Given the description of an element on the screen output the (x, y) to click on. 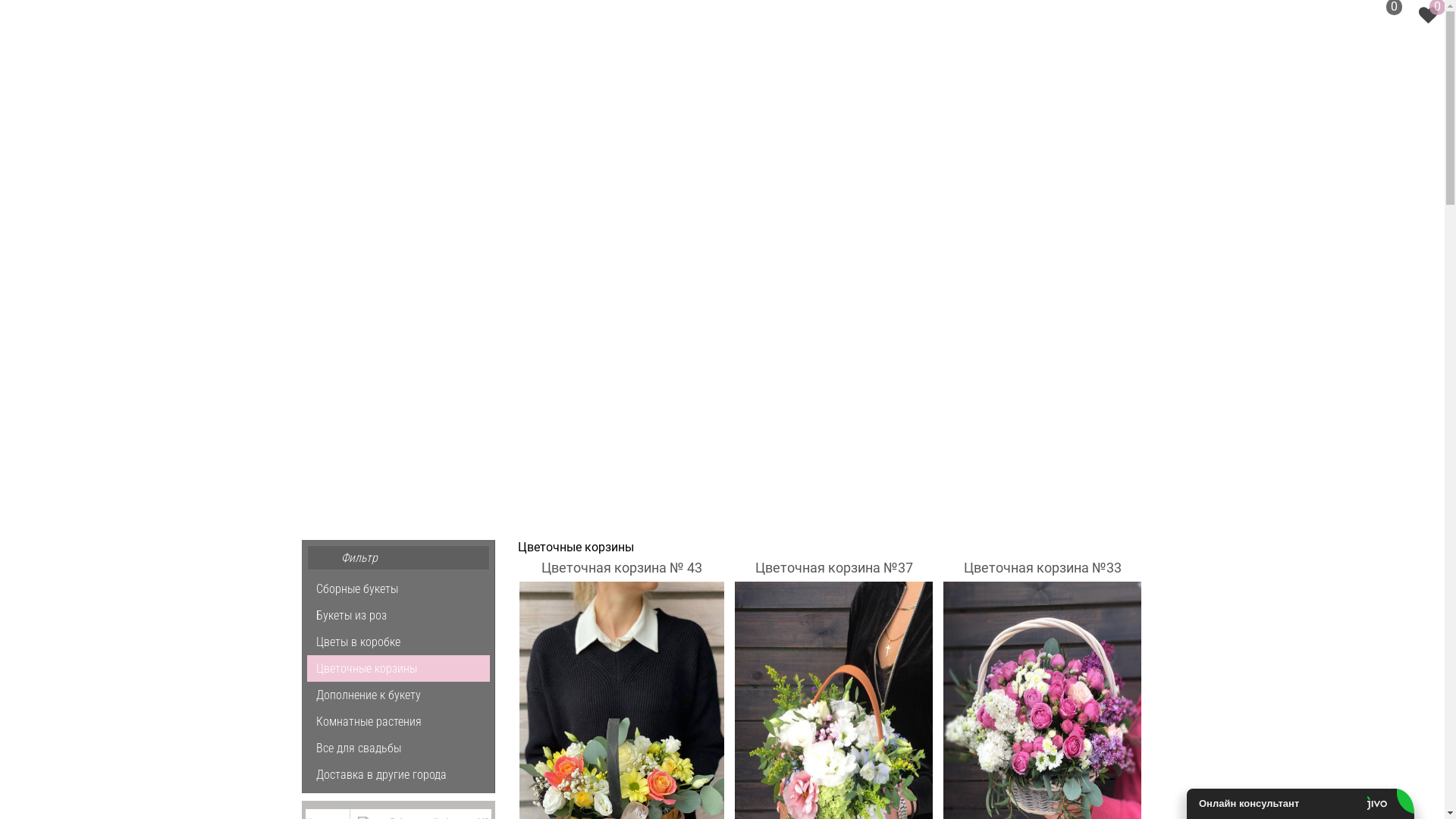
pfl_@tut.by Element type: text (1301, 16)
+375298053479 Element type: text (1206, 16)
